Given the description of an element on the screen output the (x, y) to click on. 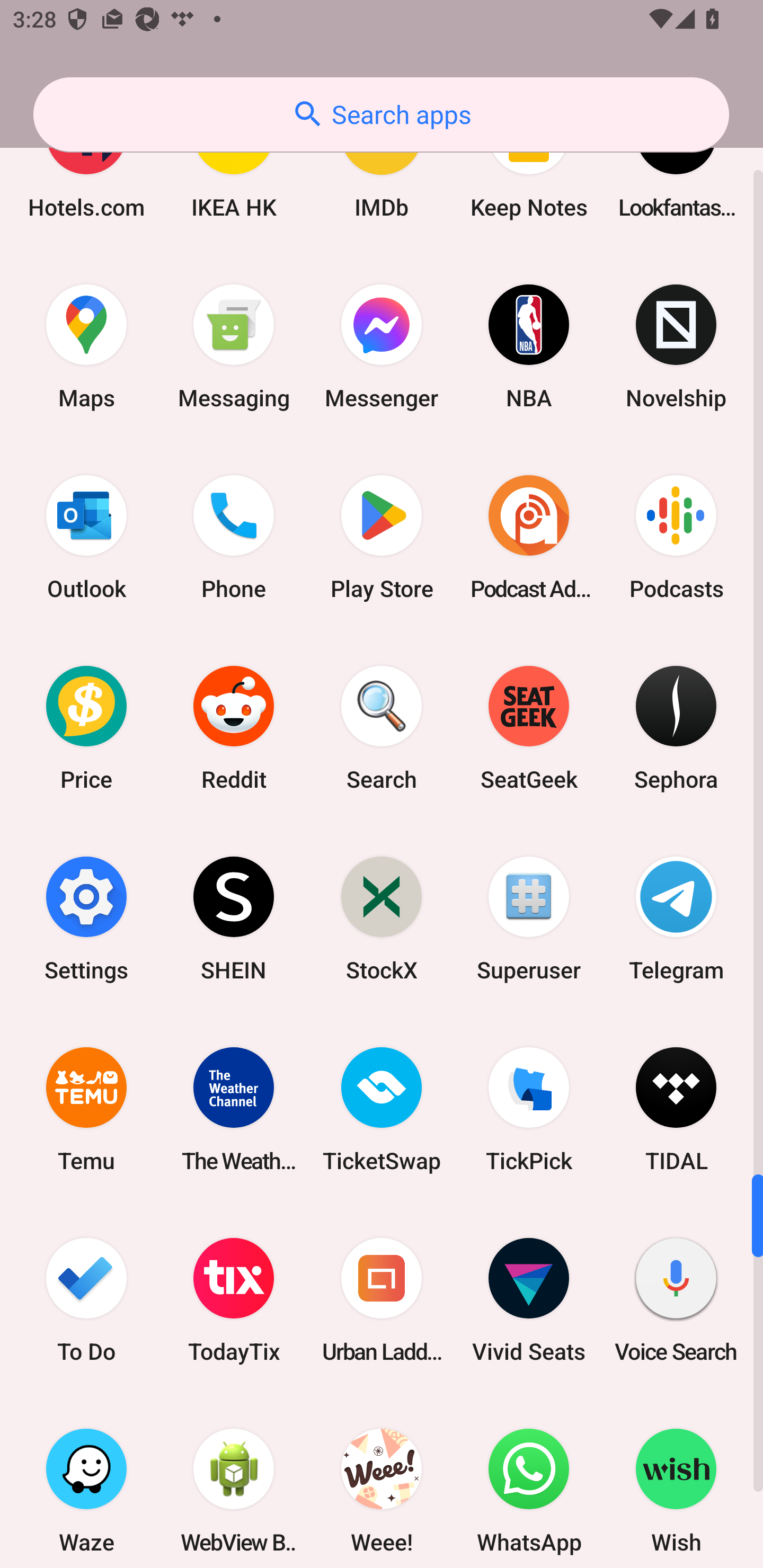
To Do (86, 1299)
